Given the description of an element on the screen output the (x, y) to click on. 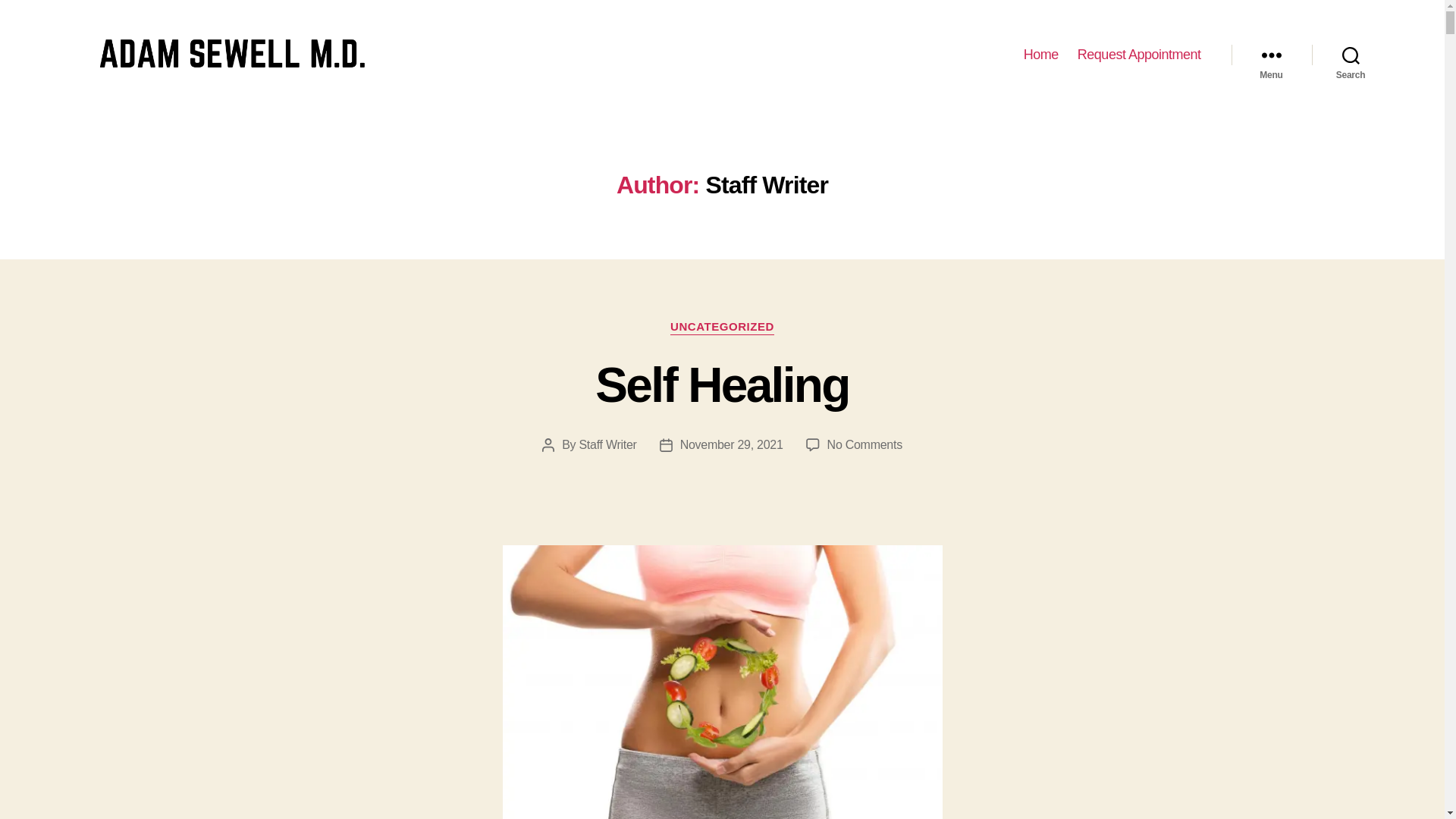
Request Appointment (1139, 54)
Search (1350, 55)
Home (1040, 54)
UNCATEGORIZED (864, 444)
November 29, 2021 (721, 327)
Menu (731, 444)
Staff Writer (1271, 55)
Self Healing (607, 444)
